Given the description of an element on the screen output the (x, y) to click on. 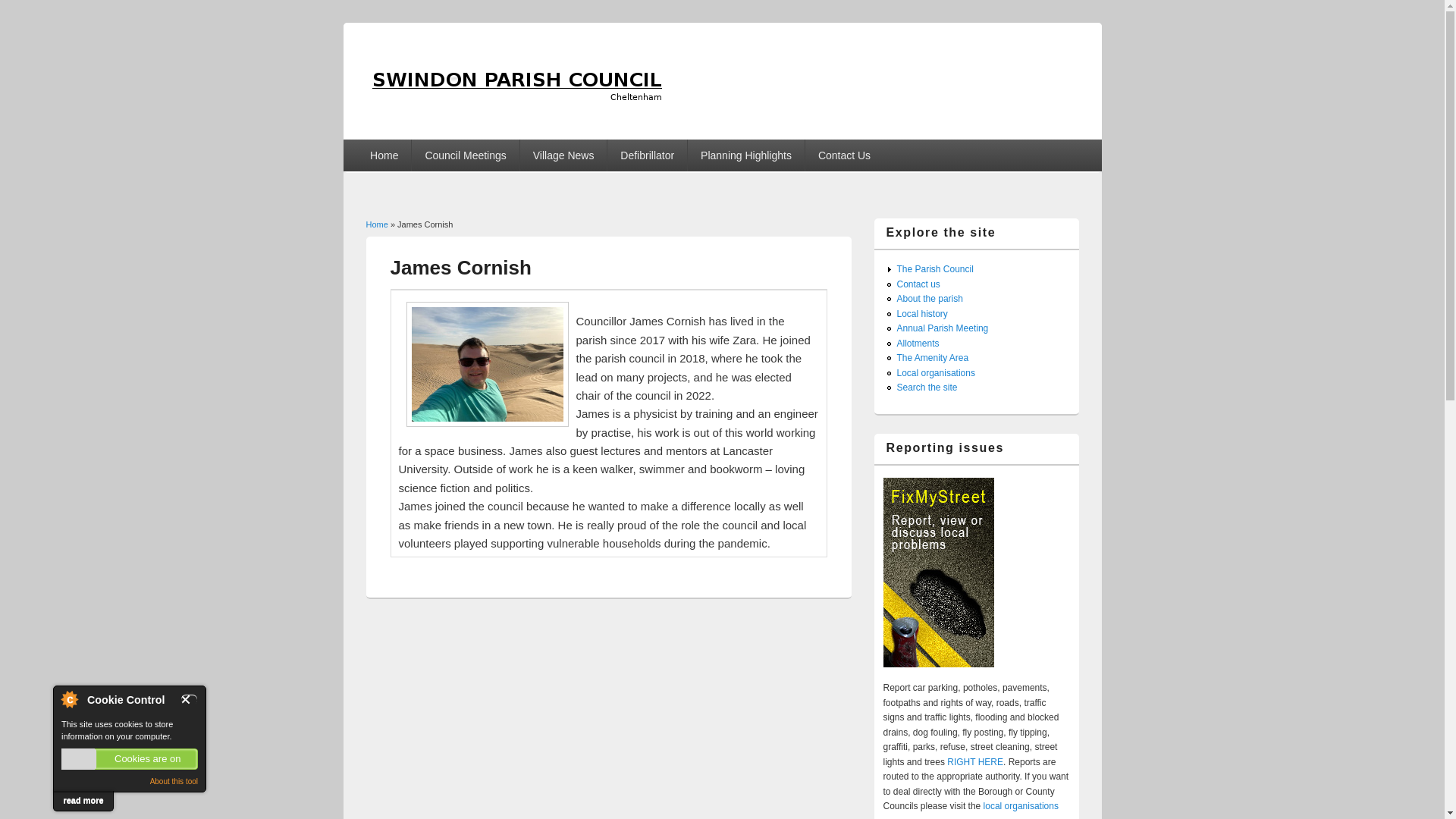
Village News (563, 155)
Planning Highlights (746, 155)
Find out aboout the area's past (921, 313)
Details of the defibrillator at the Village Hall (647, 155)
A description of the council. (934, 268)
About this tool (173, 781)
Get in touch with the Clerk to the Parish Council (844, 155)
List of planning applications. (746, 155)
Search the site (926, 387)
About Cookie Control (68, 698)
